Given the description of an element on the screen output the (x, y) to click on. 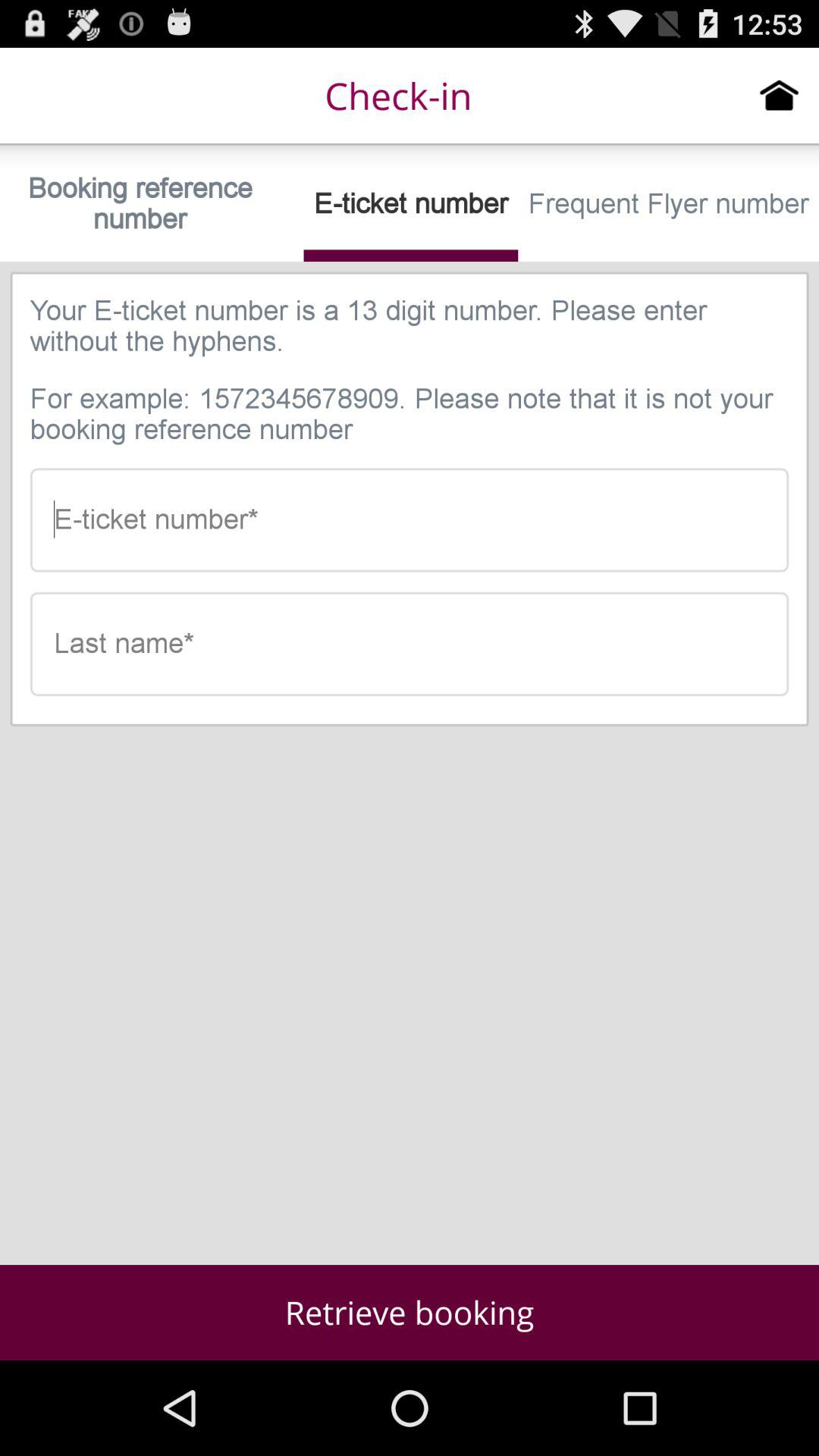
text field (409, 643)
